Given the description of an element on the screen output the (x, y) to click on. 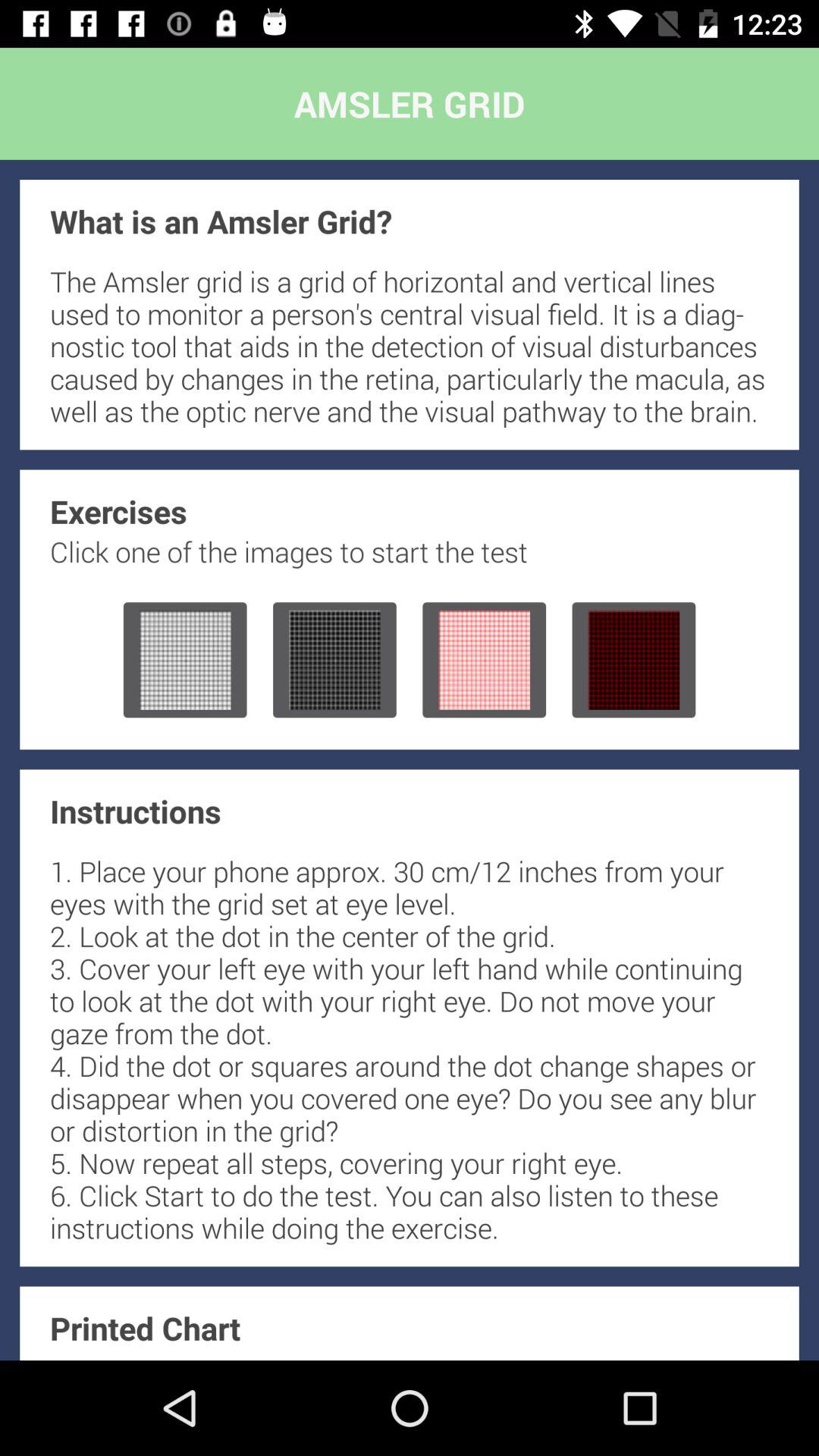
choose grid for test (184, 659)
